Given the description of an element on the screen output the (x, y) to click on. 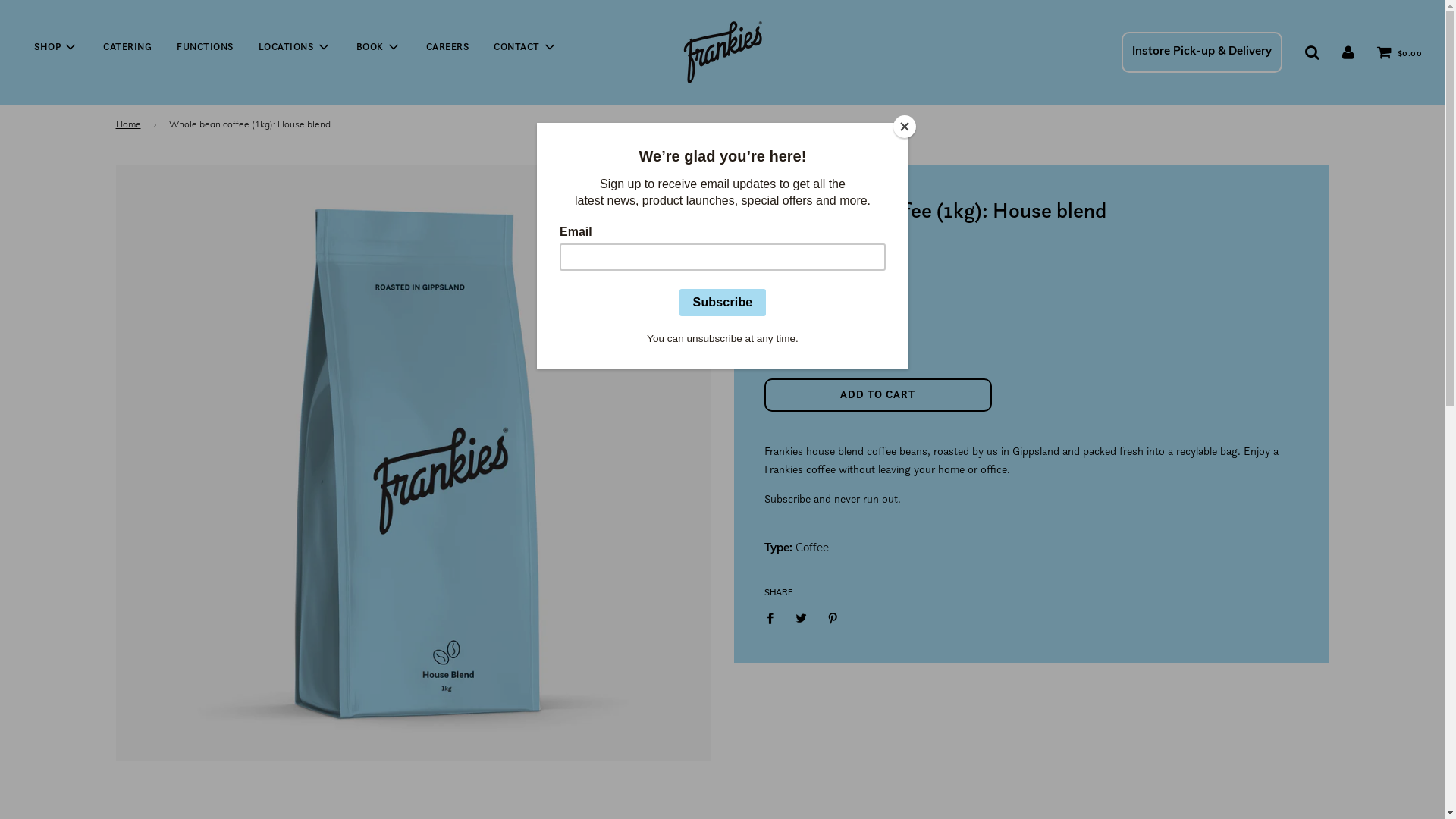
CAREERS Element type: text (447, 46)
$0.00 Element type: text (1399, 52)
SHOP Element type: text (55, 45)
Log in Element type: hover (1348, 51)
CONTACT Element type: text (525, 45)
LOCATIONS Element type: text (294, 45)
Instore Pick-up & Delivery Element type: text (1200, 51)
LOADING...
ADD TO CART Element type: text (877, 394)
BOOK Element type: text (377, 45)
CATERING Element type: text (127, 46)
Home Element type: text (130, 123)
Subscribe Element type: text (787, 499)
FUNCTIONS Element type: text (204, 46)
